Given the description of an element on the screen output the (x, y) to click on. 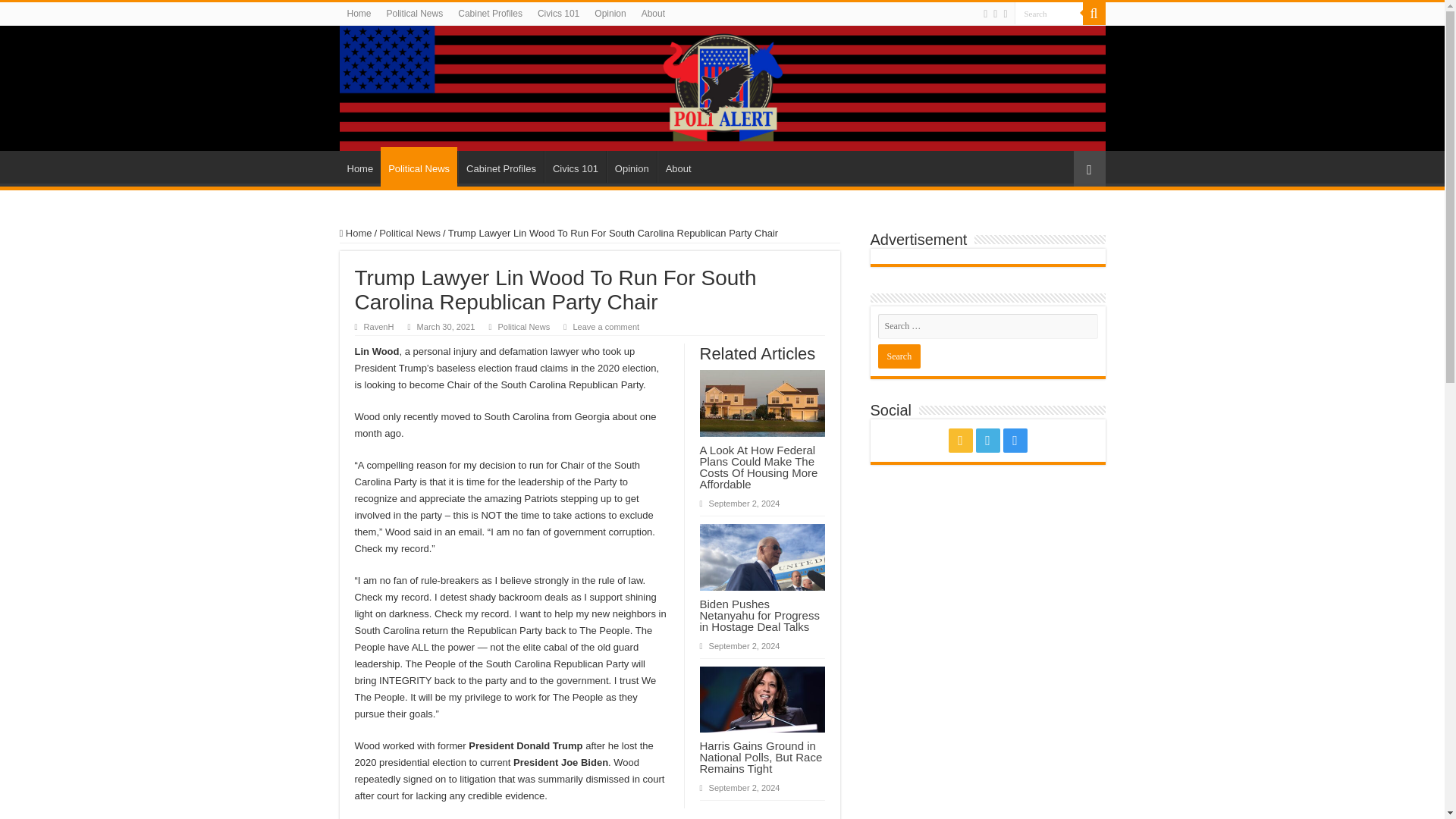
Political News (414, 13)
Political News (418, 166)
Cabinet Profiles (500, 166)
Search (1094, 13)
Opinion (609, 13)
Civics 101 (574, 166)
Home (358, 13)
Search (1048, 13)
Search (1048, 13)
Home (360, 166)
